Given the description of an element on the screen output the (x, y) to click on. 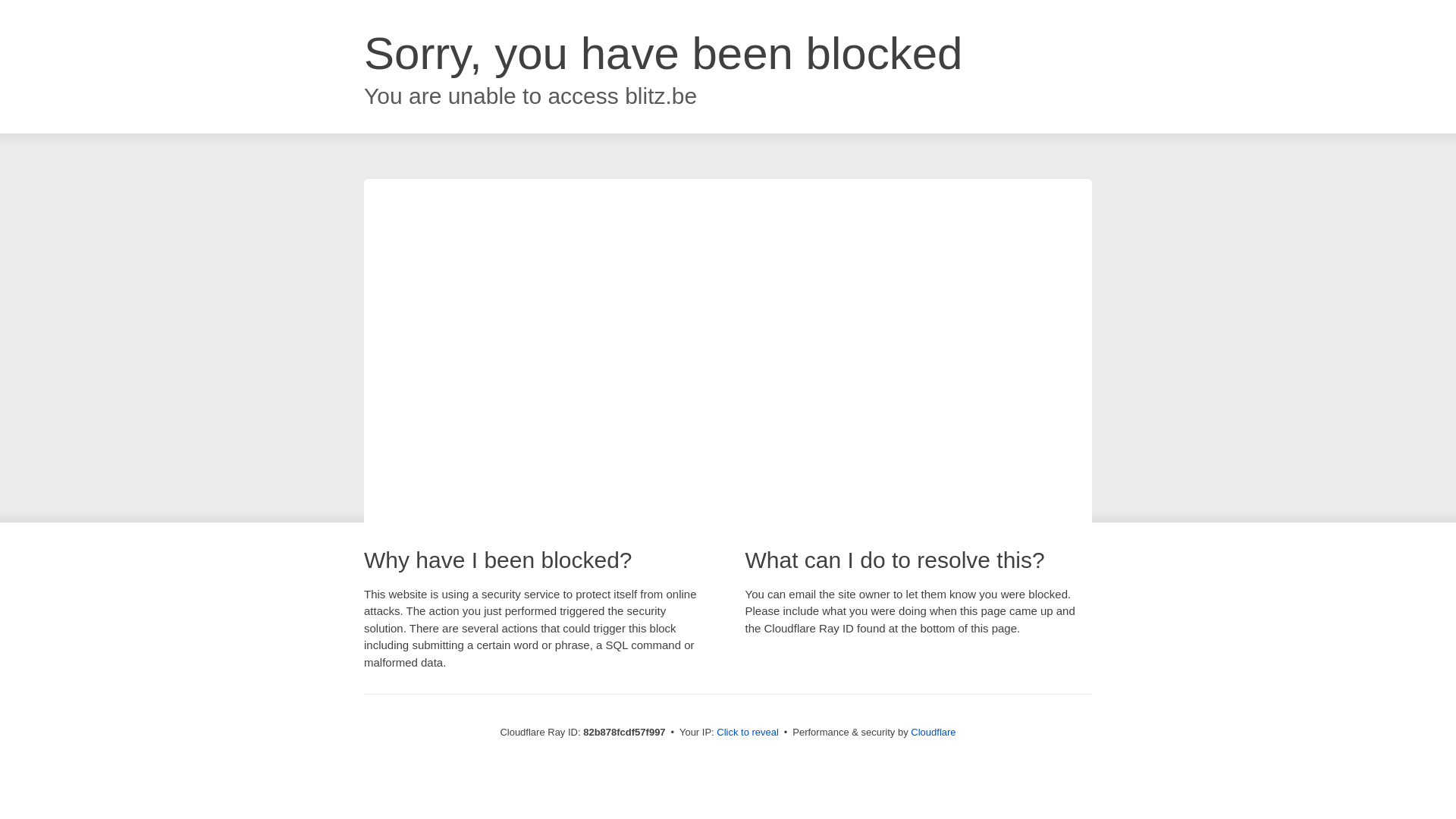
Click to reveal Element type: text (747, 732)
Cloudflare Element type: text (932, 731)
